Given the description of an element on the screen output the (x, y) to click on. 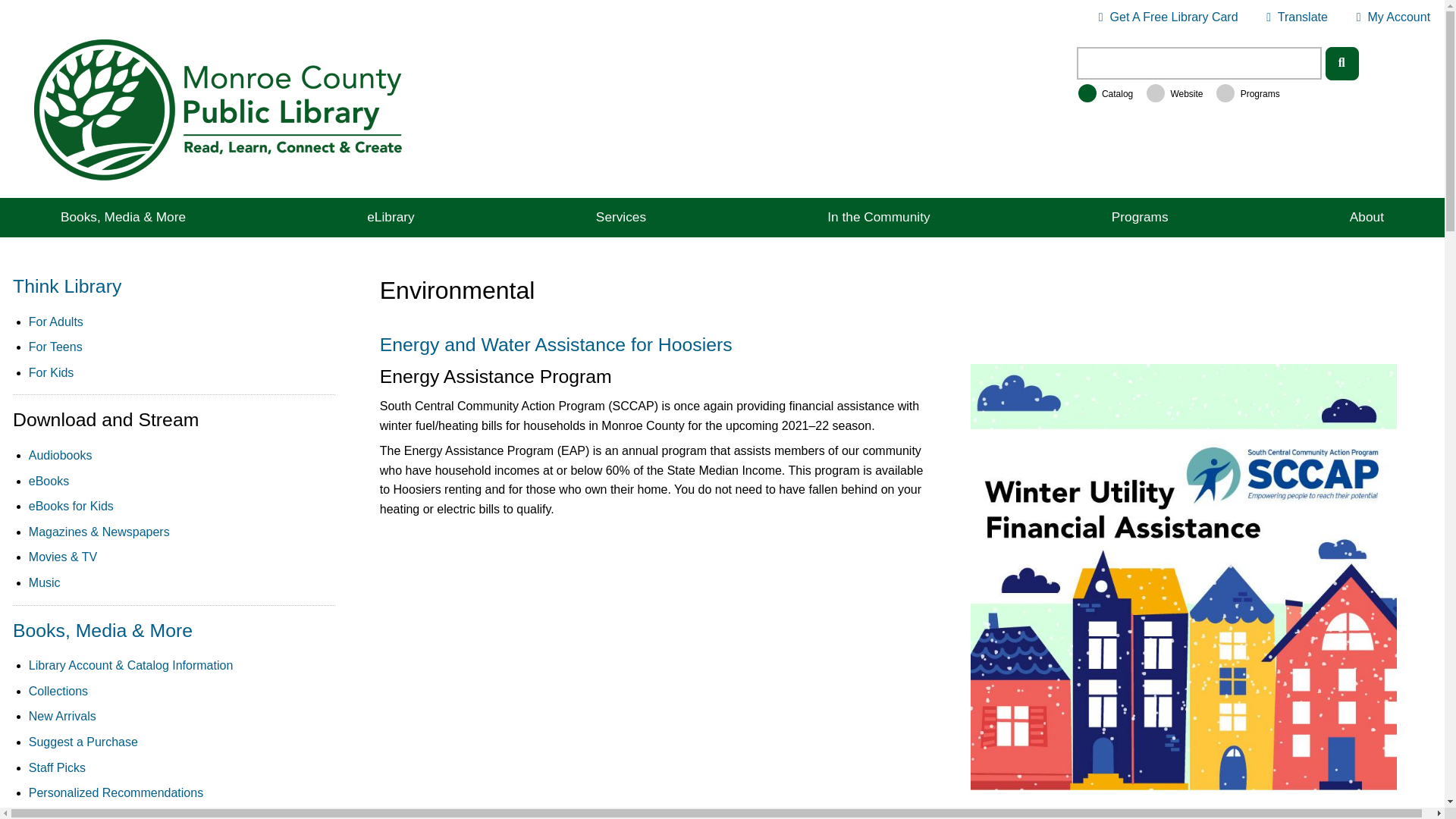
Services (620, 216)
New Arrivals (409, 816)
Energy and Water Assistance for Hoosiers (62, 716)
eRecommendations (409, 816)
recherche (82, 815)
programs (1297, 16)
Personalized Recommendations (61, 454)
website (116, 792)
About (1168, 16)
Suggest a Purchase (1366, 216)
For Kids (83, 741)
